Given the description of an element on the screen output the (x, y) to click on. 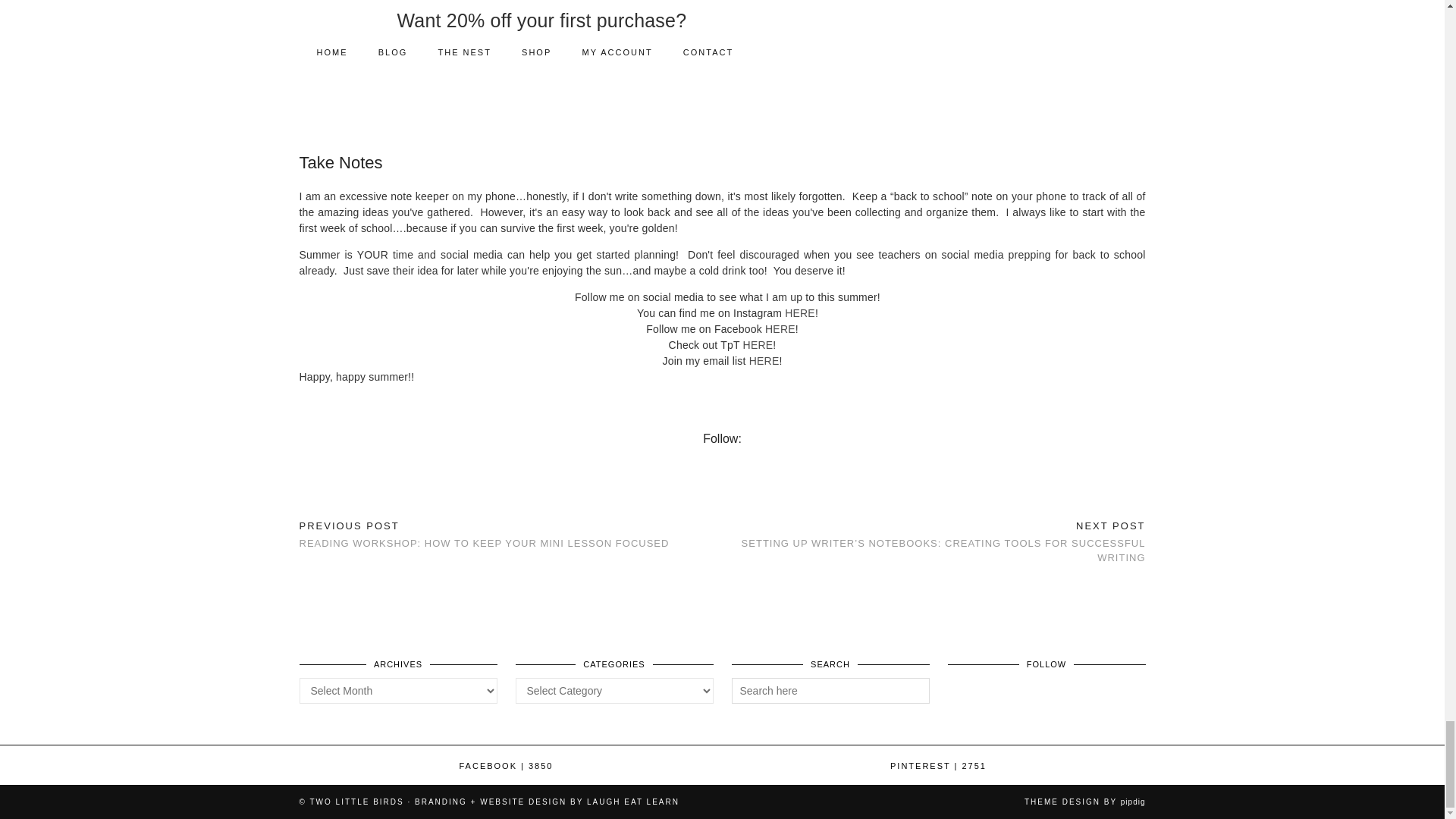
HERE (799, 313)
HERE (779, 328)
